Given the description of an element on the screen output the (x, y) to click on. 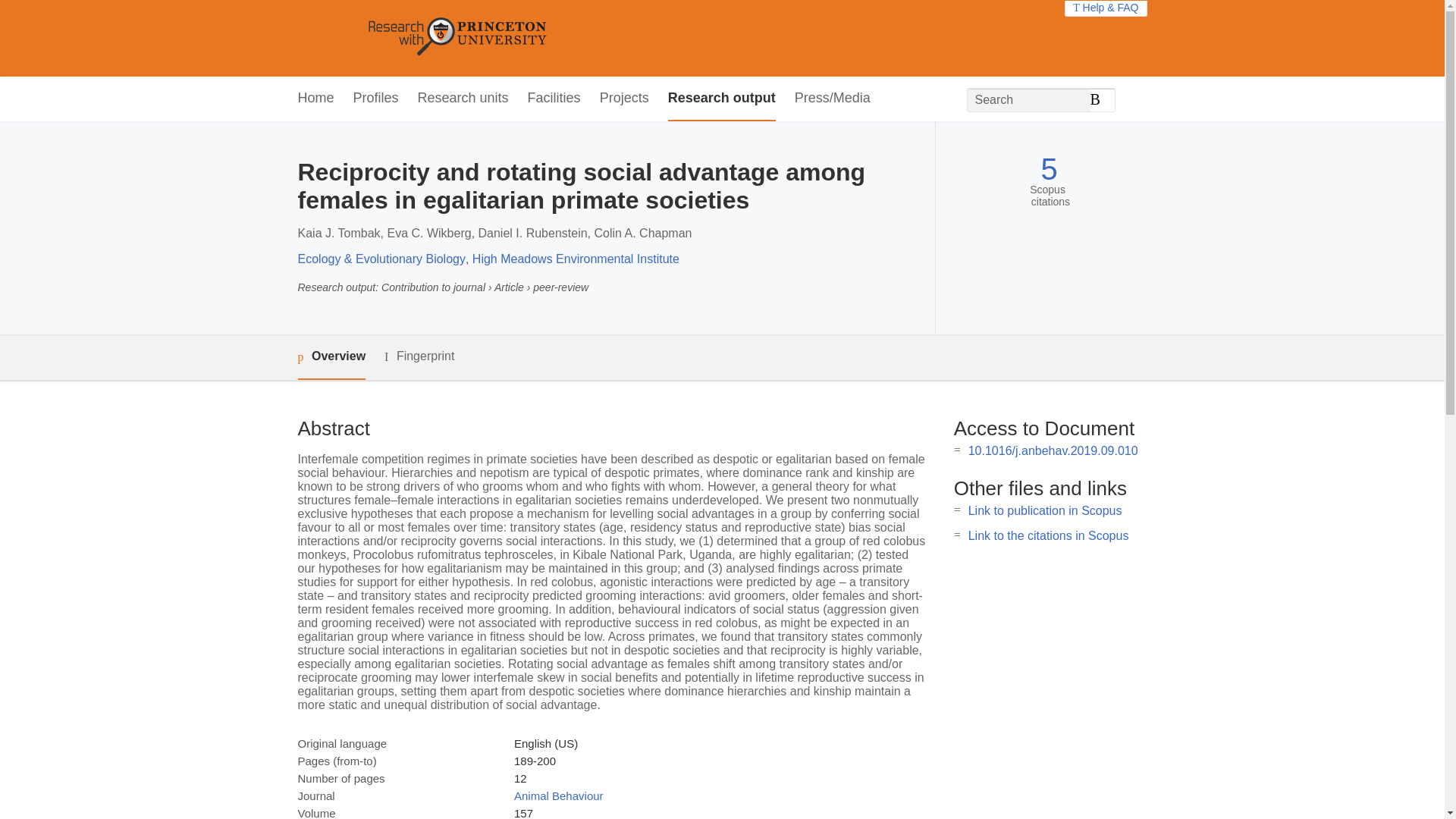
Research units (462, 98)
Princeton University Home (567, 38)
Link to the citations in Scopus (1048, 535)
Fingerprint (419, 356)
High Meadows Environmental Institute (575, 258)
Facilities (553, 98)
Research output (722, 98)
Link to publication in Scopus (1045, 510)
Profiles (375, 98)
Overview (331, 357)
Projects (624, 98)
Animal Behaviour (558, 795)
